Given the description of an element on the screen output the (x, y) to click on. 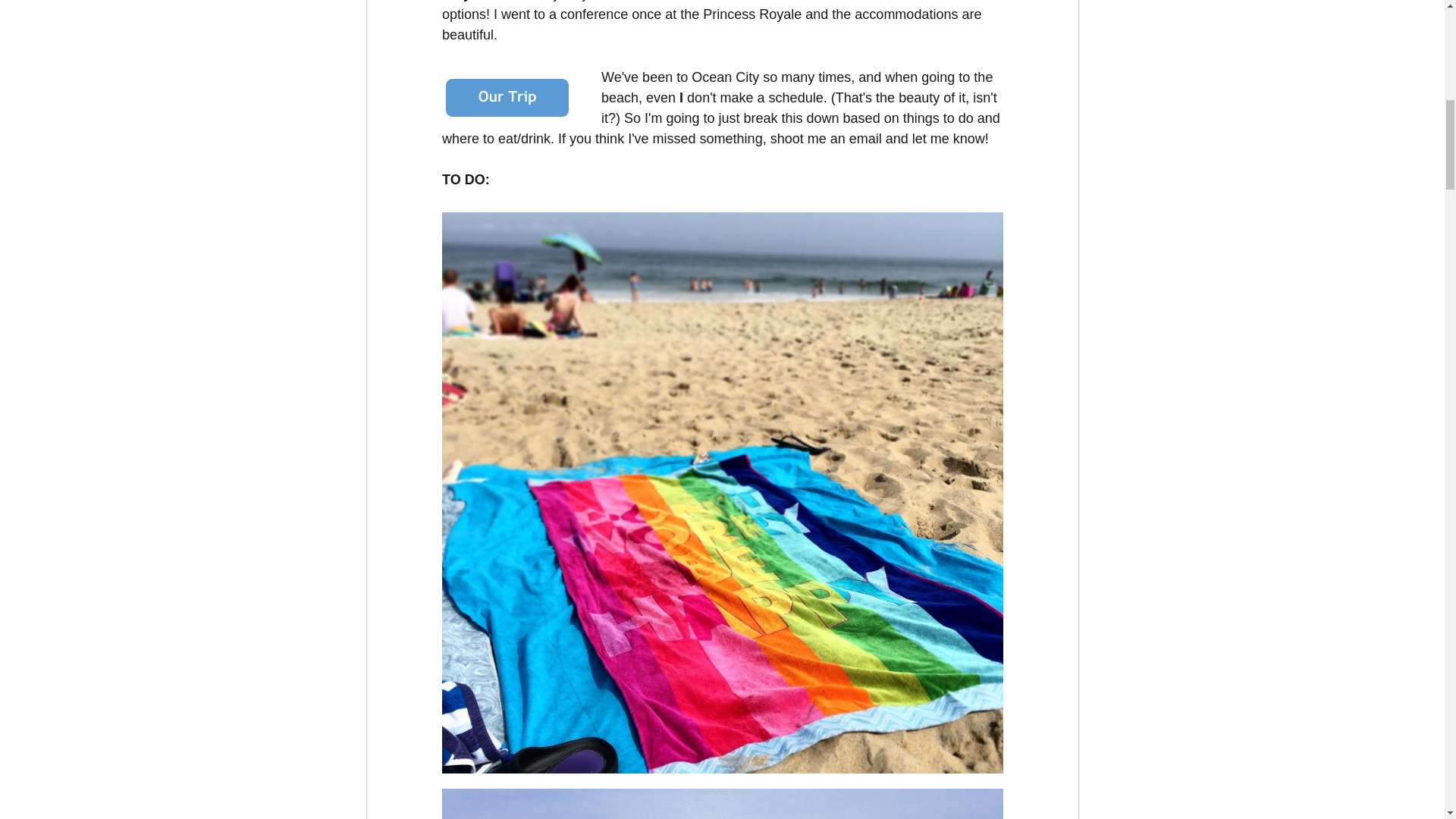
Princess Royale (752, 14)
